Given the description of an element on the screen output the (x, y) to click on. 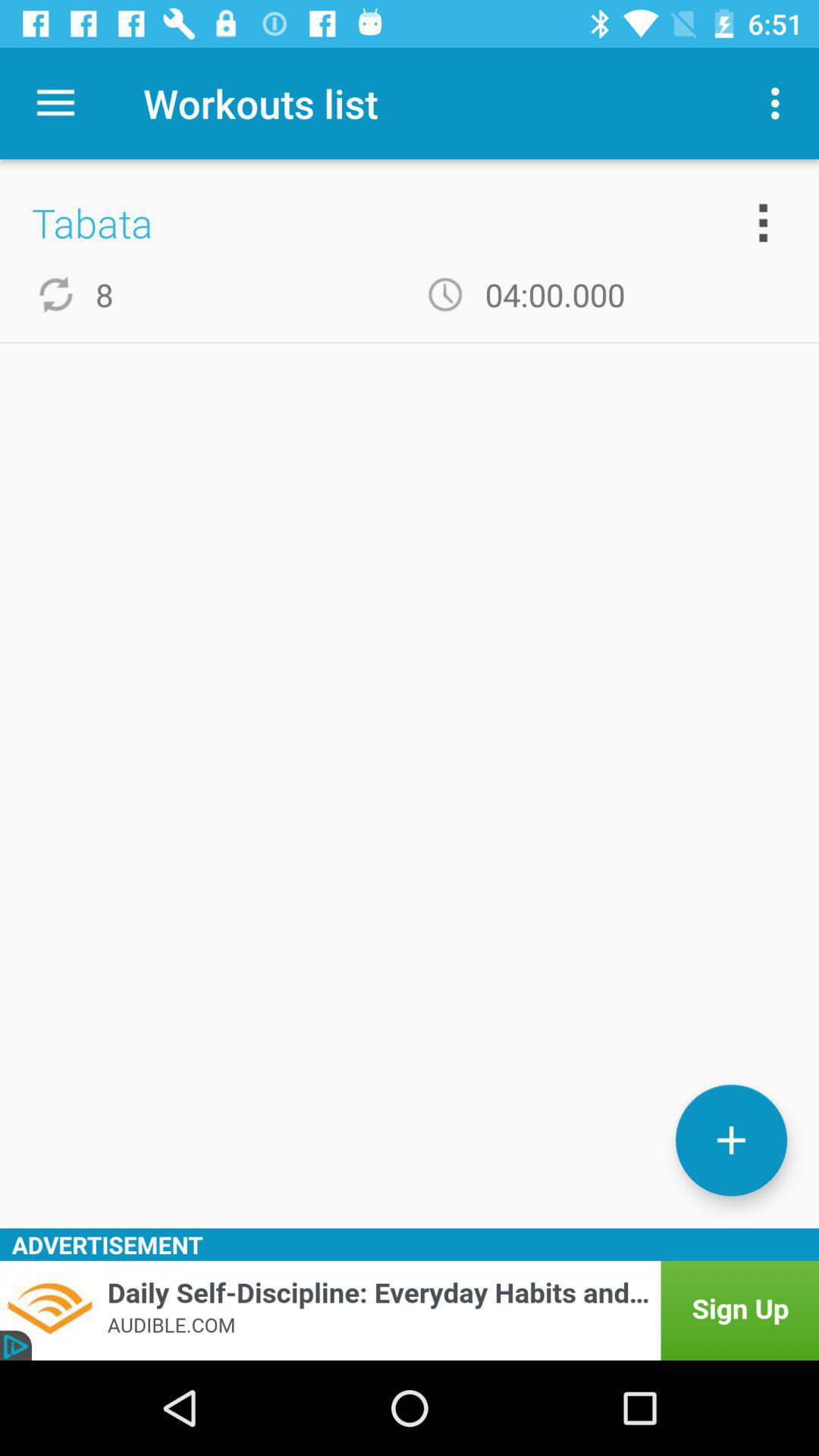
turn on item at the bottom right corner (731, 1140)
